Given the description of an element on the screen output the (x, y) to click on. 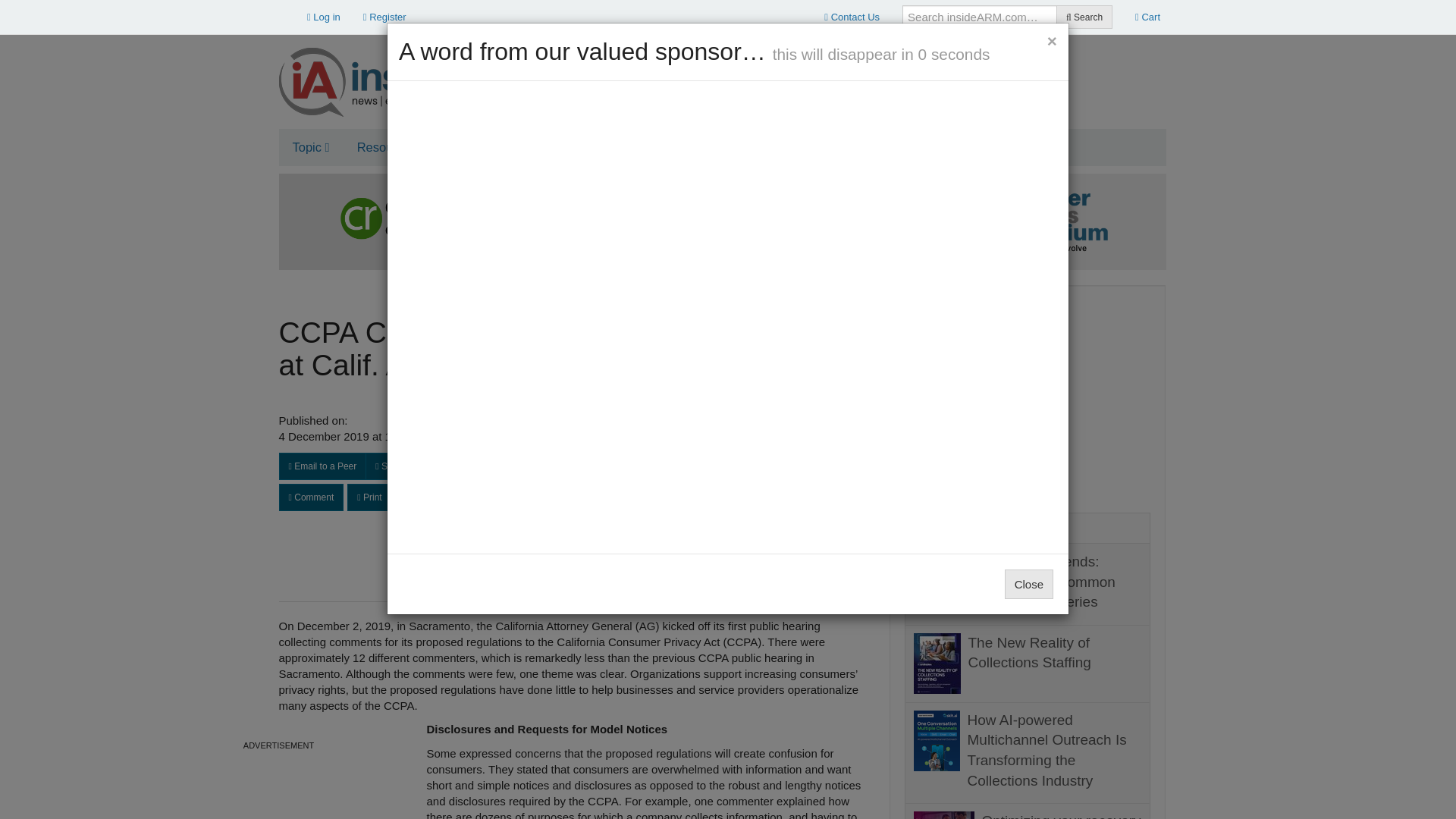
Register (384, 17)
Contact Us (851, 17)
Cart (1148, 17)
3rd party ad content (889, 75)
Advertise (481, 147)
Search (1084, 16)
Resources (390, 147)
3rd party ad content (279, 787)
3rd party ad content (1027, 394)
Log in (323, 17)
Topic (311, 147)
